Given the description of an element on the screen output the (x, y) to click on. 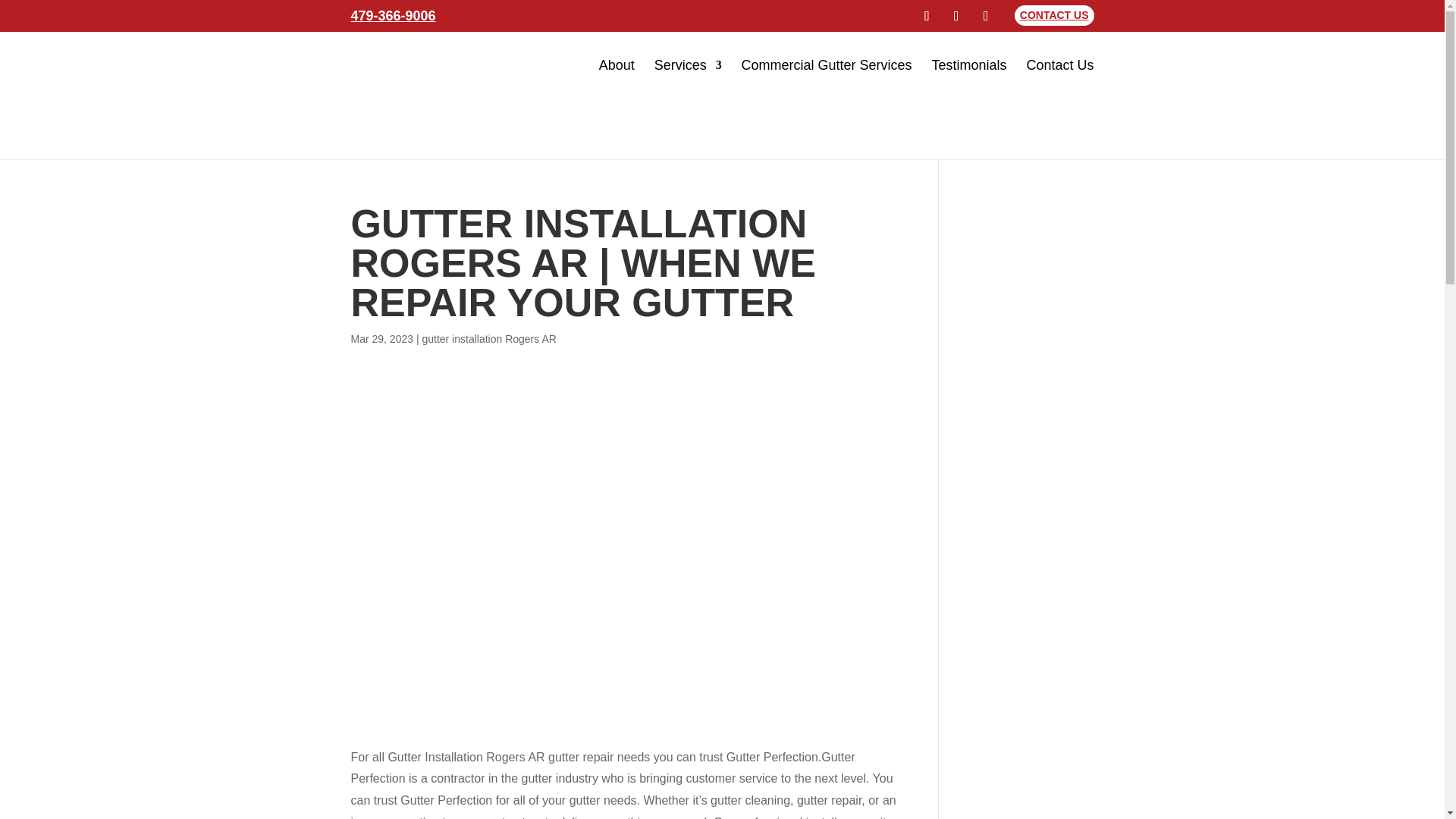
479-366-9006 (392, 15)
CONTACT US (1054, 14)
Commercial Gutter Services (826, 64)
Services (687, 64)
Contact Us (1059, 64)
Testimonials (969, 64)
gutter installation Rogers AR (489, 338)
About (616, 64)
